Given the description of an element on the screen output the (x, y) to click on. 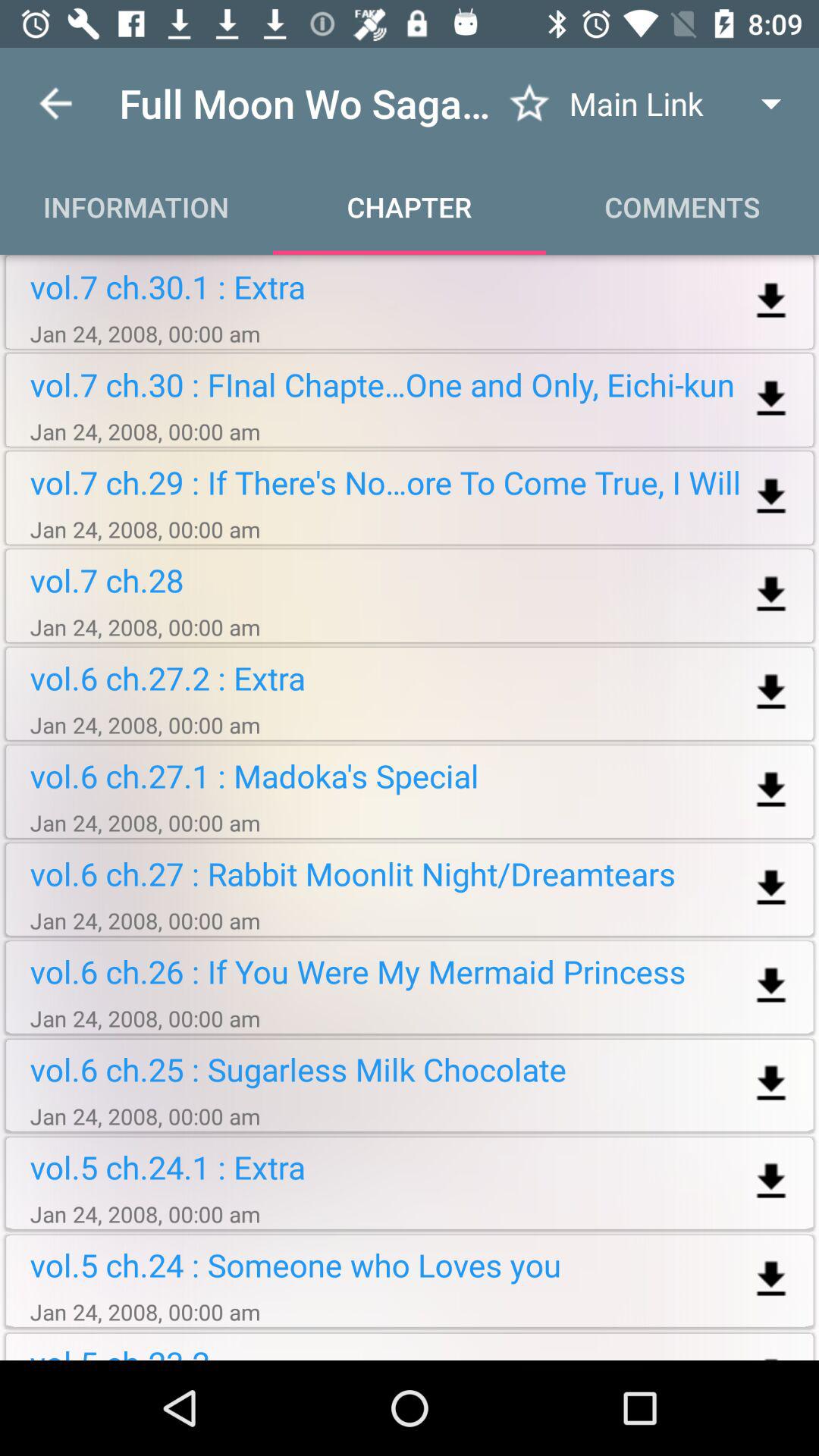
download this file (771, 790)
